Given the description of an element on the screen output the (x, y) to click on. 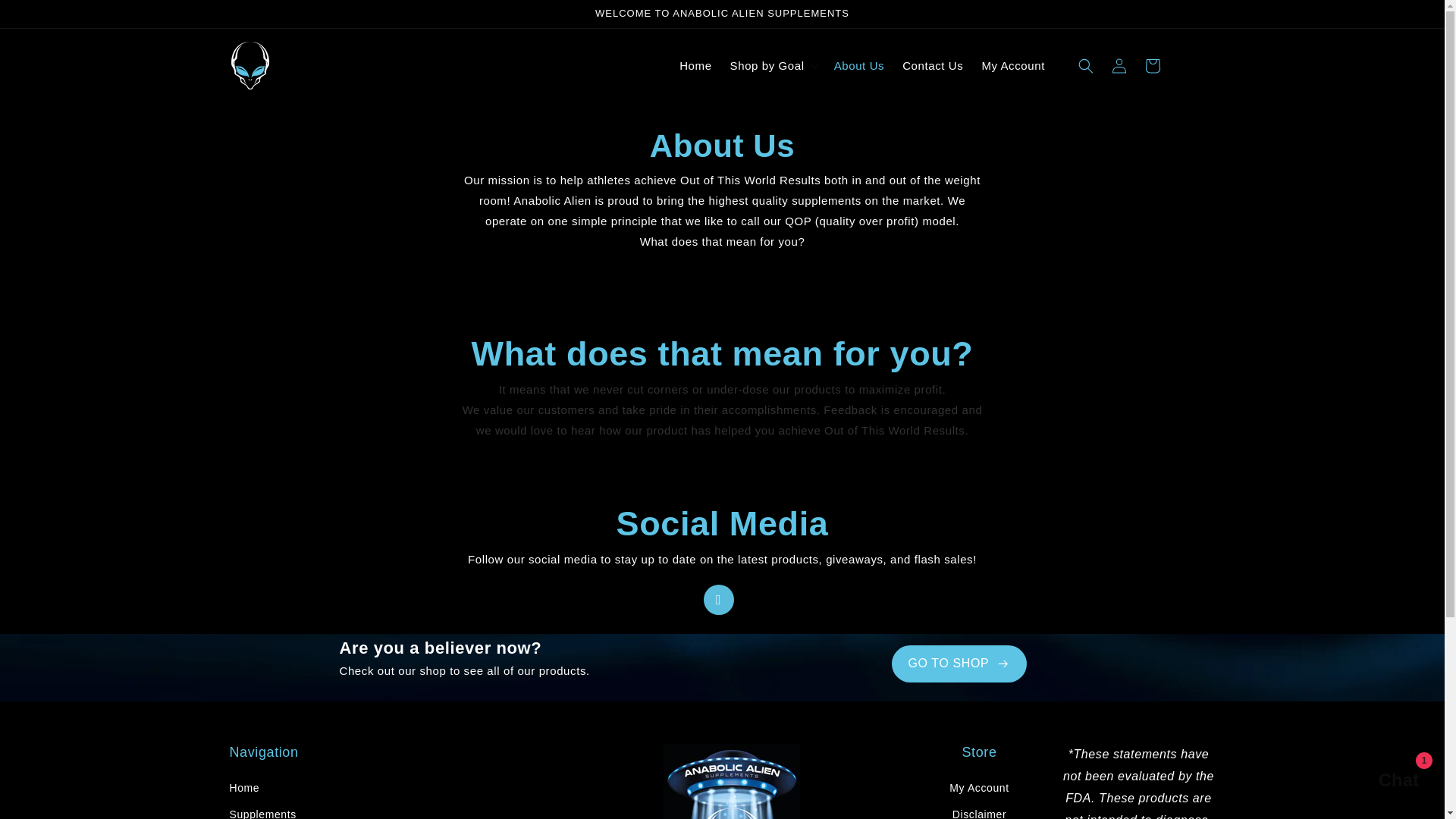
Skip to content (45, 16)
Contact Us (932, 65)
Home (243, 789)
About Us (859, 65)
Cart (1152, 65)
Log in (1118, 65)
Shopify online store chat (1383, 781)
My Account (979, 789)
Supplements (261, 810)
Home (694, 65)
Disclaimer (979, 810)
My Account (1013, 65)
